Given the description of an element on the screen output the (x, y) to click on. 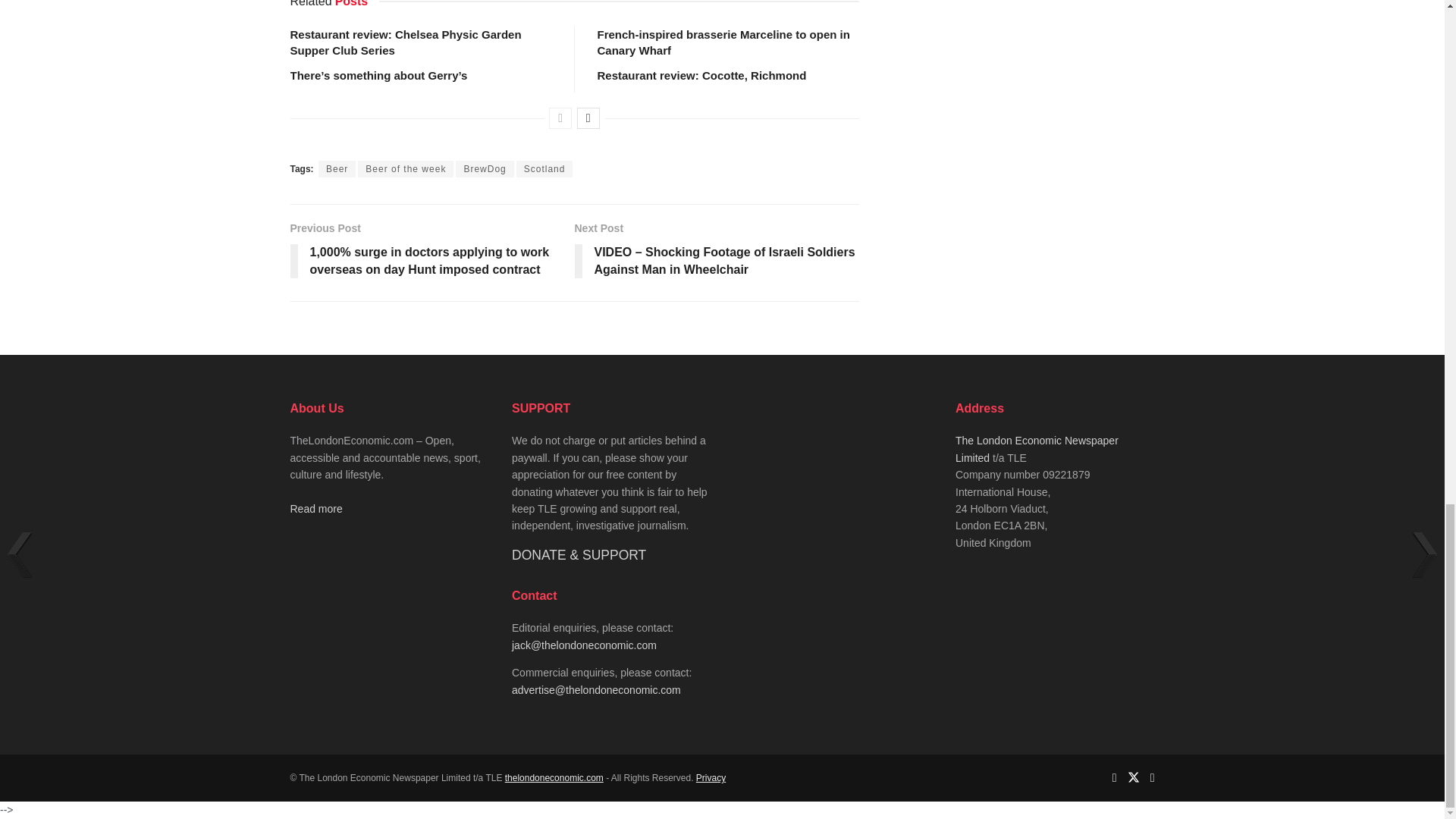
Privacy (710, 777)
Next (587, 117)
The London Economic (554, 777)
Previous (560, 117)
